Given the description of an element on the screen output the (x, y) to click on. 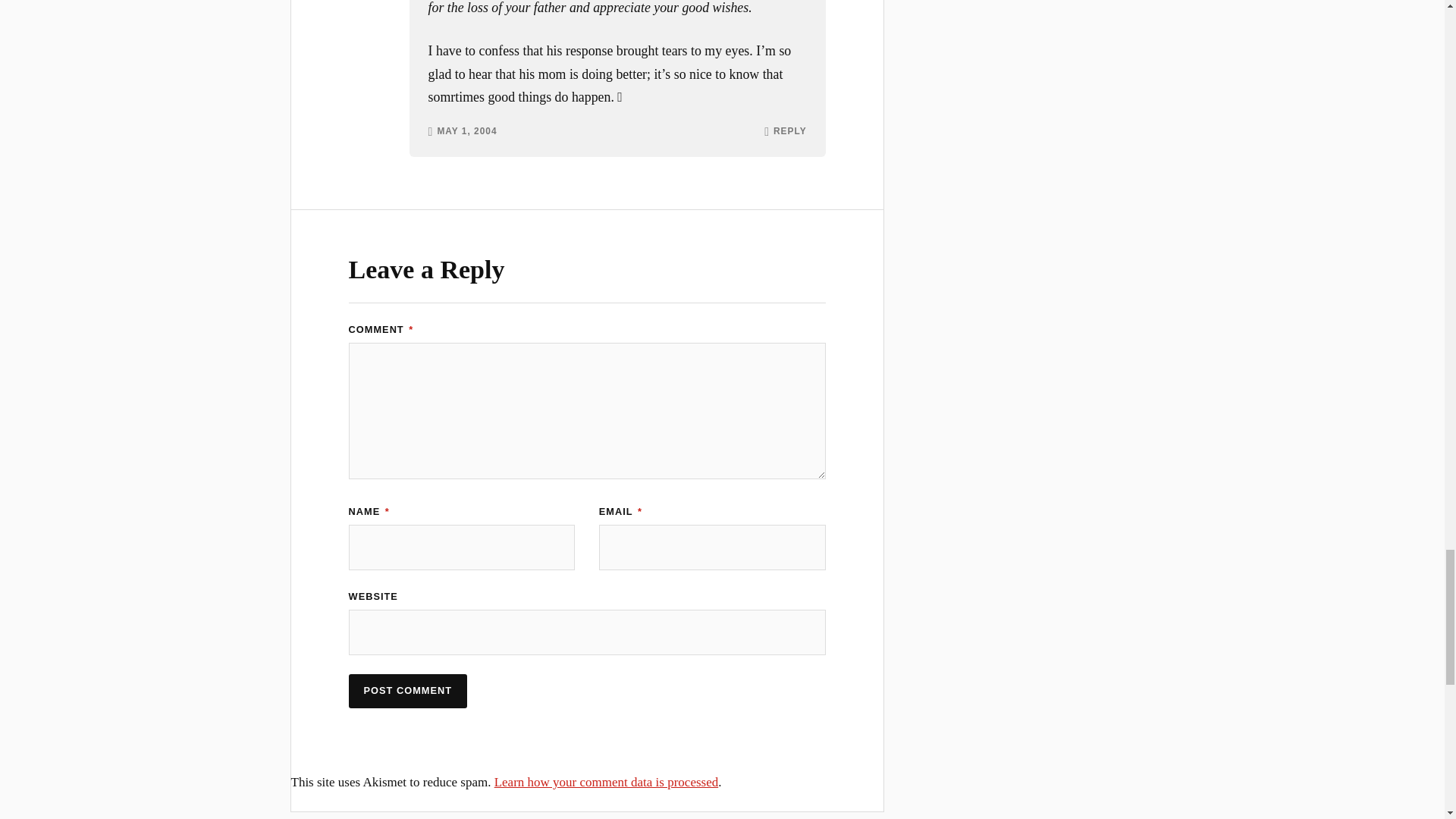
Post Comment (408, 691)
